Given the description of an element on the screen output the (x, y) to click on. 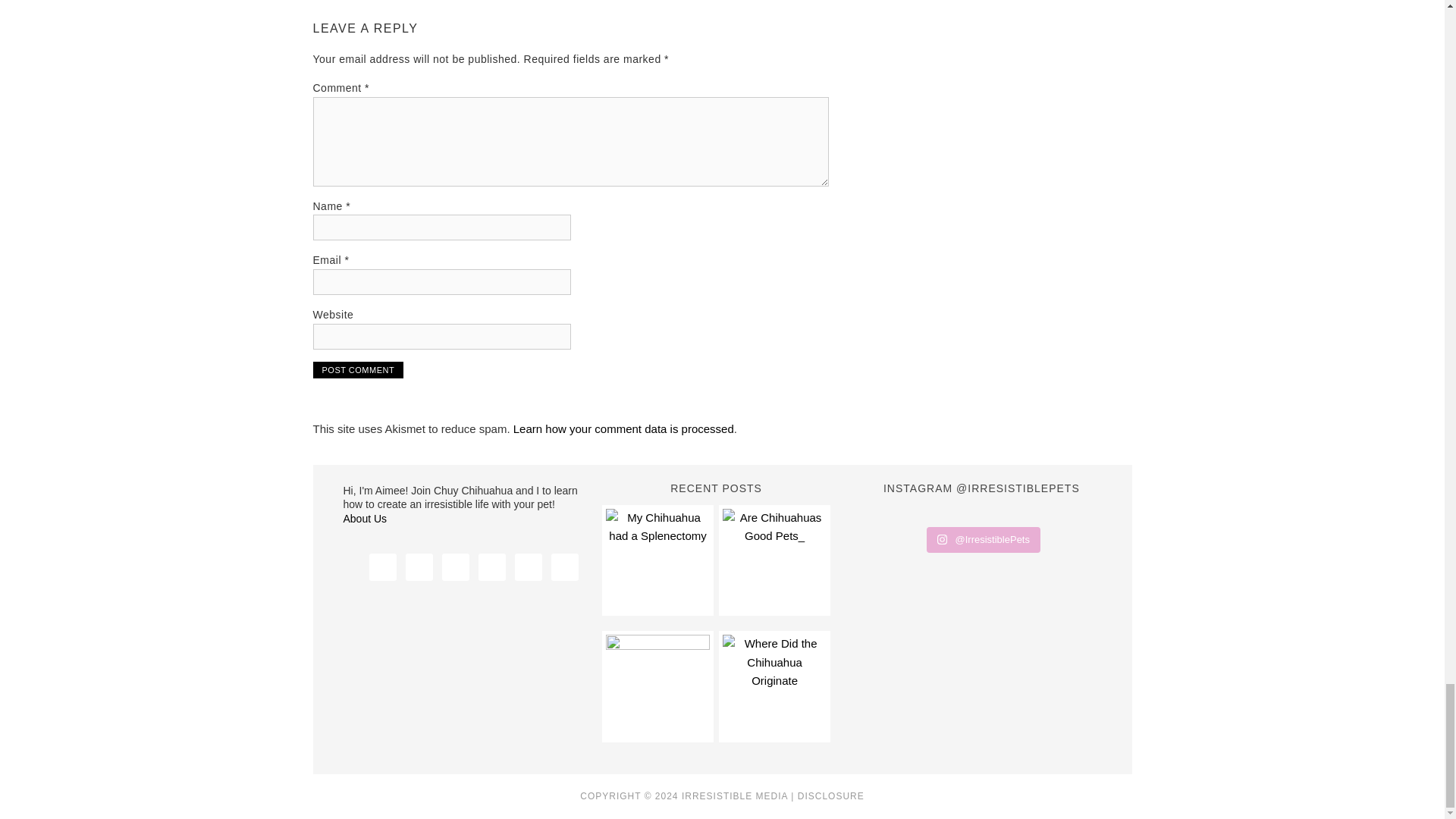
Learn how your comment data is processed (623, 428)
Are Chihuahuas Good Pets? (773, 559)
My Chihuahua Had a Splenectomy (657, 559)
Where Did the Chihuahua Originate? (773, 685)
Post Comment (358, 369)
Post Comment (358, 369)
